Given the description of an element on the screen output the (x, y) to click on. 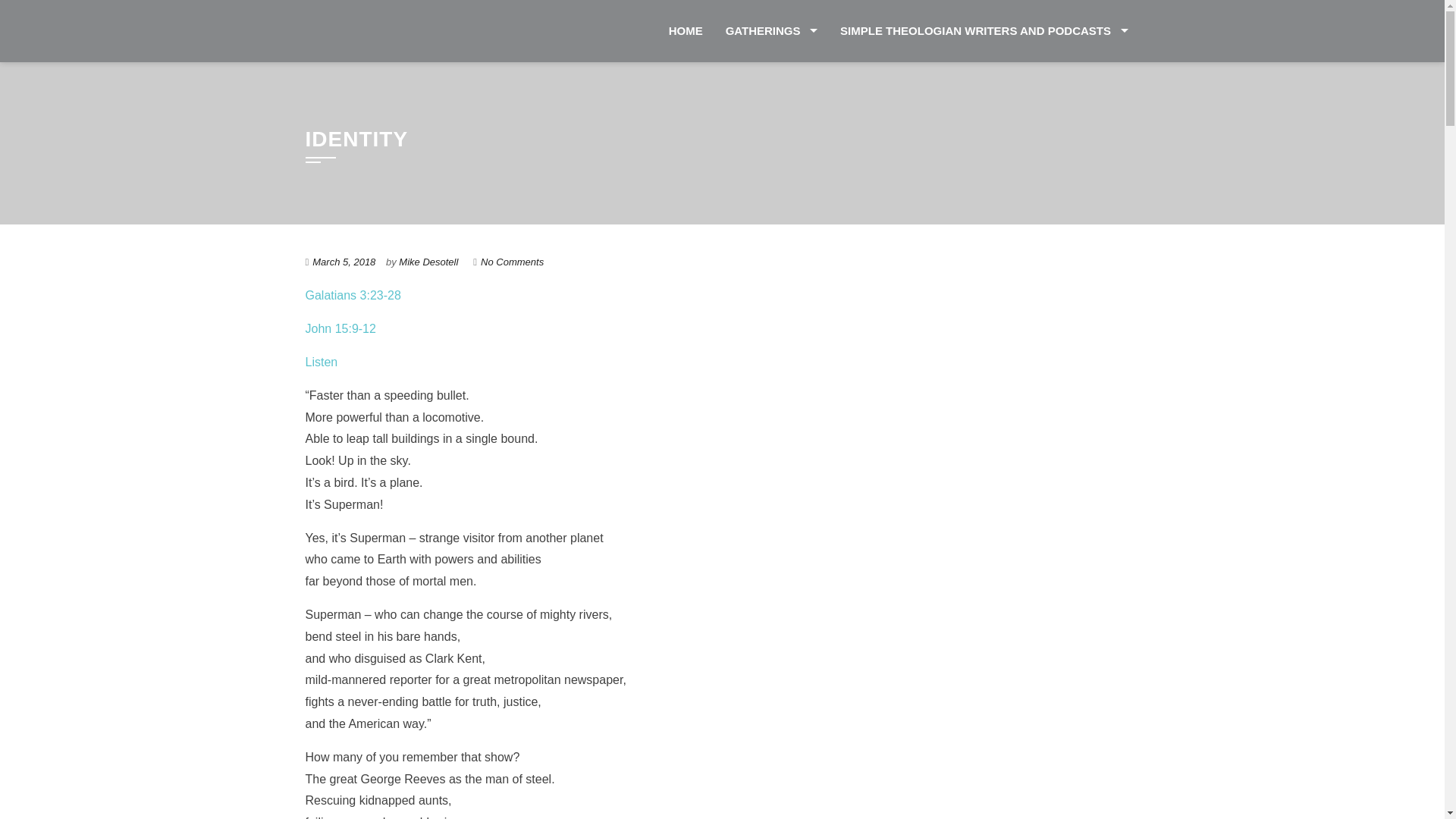
Mike Desotell (428, 261)
No Comments (511, 261)
HOME (686, 31)
John 15:9-12 (339, 328)
Listen (320, 361)
Galatians 3:23-28 (352, 295)
March 5, 2018 (344, 261)
SIMPLE THEOLOGIAN WRITERS AND PODCASTS (983, 31)
GATHERINGS (771, 31)
SIMPLE THEOLOGIAN (424, 24)
